Given the description of an element on the screen output the (x, y) to click on. 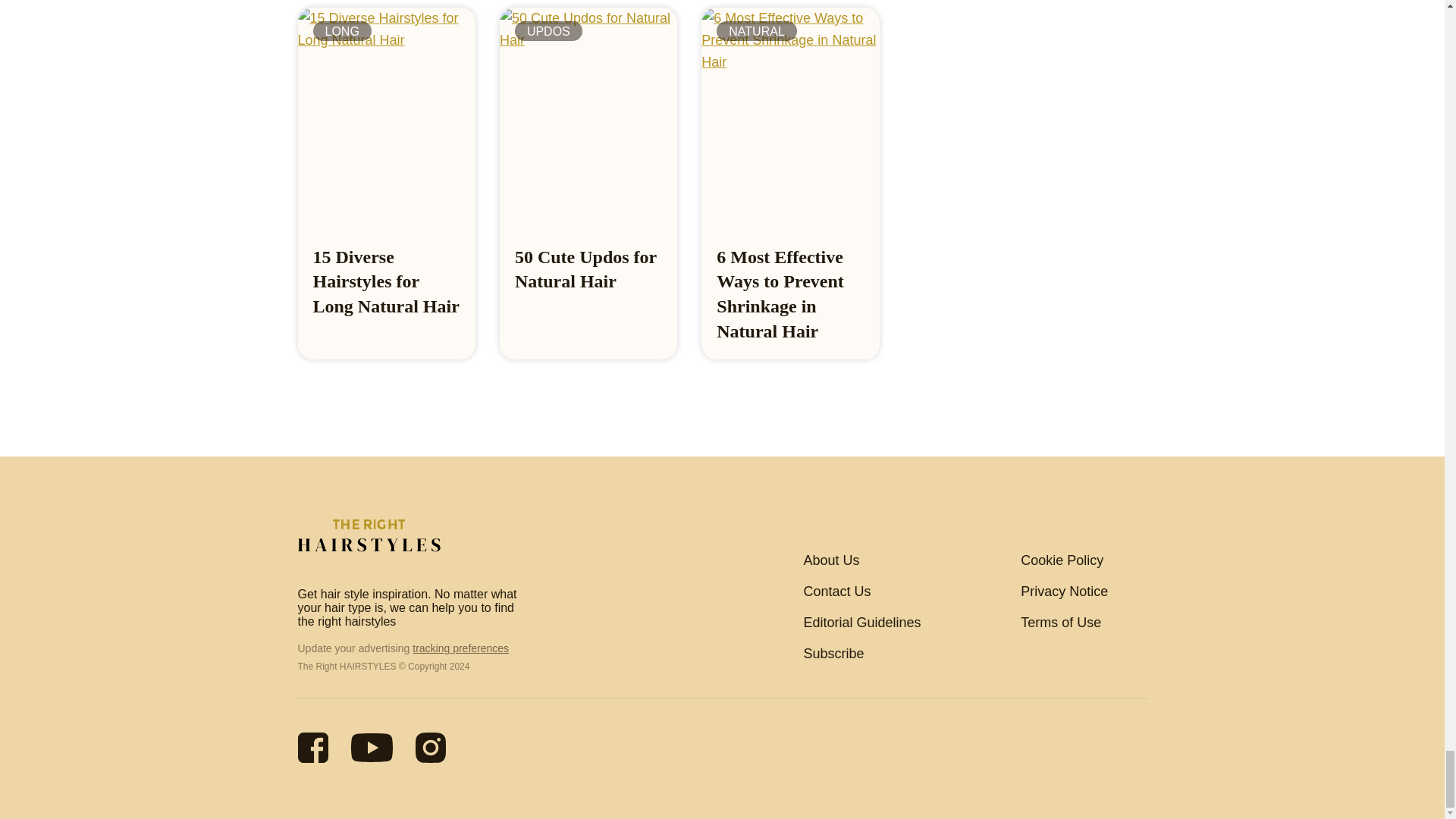
Updos (548, 30)
50 Cute Updos for Natural Hair (585, 269)
Long (342, 30)
6 Most Effective Ways to Prevent Shrinkage in Natural Hair (780, 294)
Natural (756, 30)
15 Diverse Hairstyles for Long Natural Hair (385, 281)
